Given the description of an element on the screen output the (x, y) to click on. 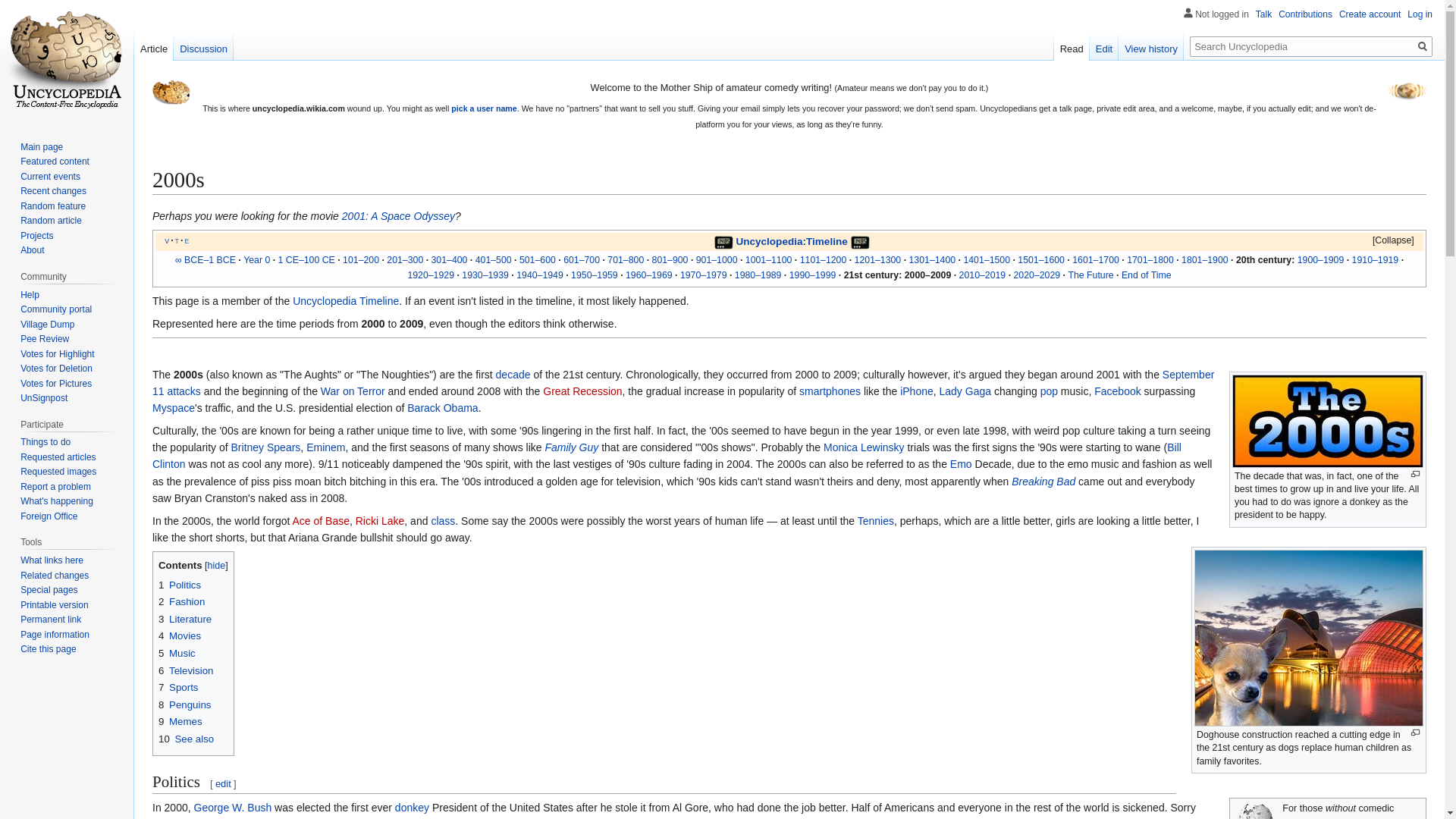
Uncyclopedia:Timeline (791, 241)
2001: A Space Odyssey (398, 215)
3rd century (405, 259)
pick a user name (483, 108)
4th century (448, 259)
Uncyclopedia:Timeline (791, 241)
Search (1422, 46)
2001: A Space Odyssey (398, 215)
0 (256, 259)
